Given the description of an element on the screen output the (x, y) to click on. 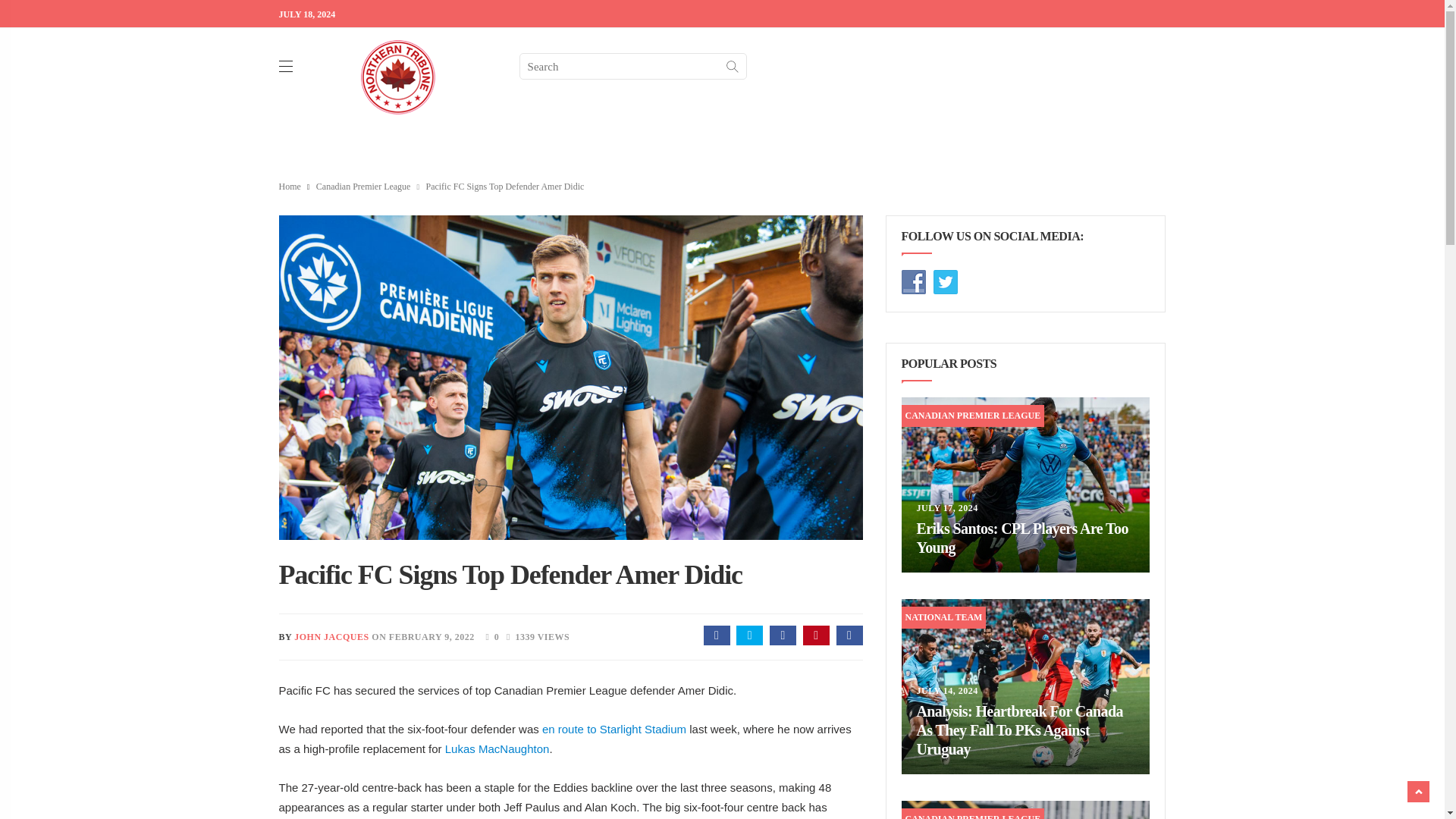
Posts by John Jacques (331, 636)
Share this post on Facebook! (716, 635)
Canadian Premier League (362, 185)
Share this post on Twitter! (749, 635)
Home (290, 185)
Lukas MacNaughton (497, 748)
0 (488, 635)
JOHN JACQUES (331, 636)
Home (290, 185)
en route to Starlight Stadium (614, 728)
